Given the description of an element on the screen output the (x, y) to click on. 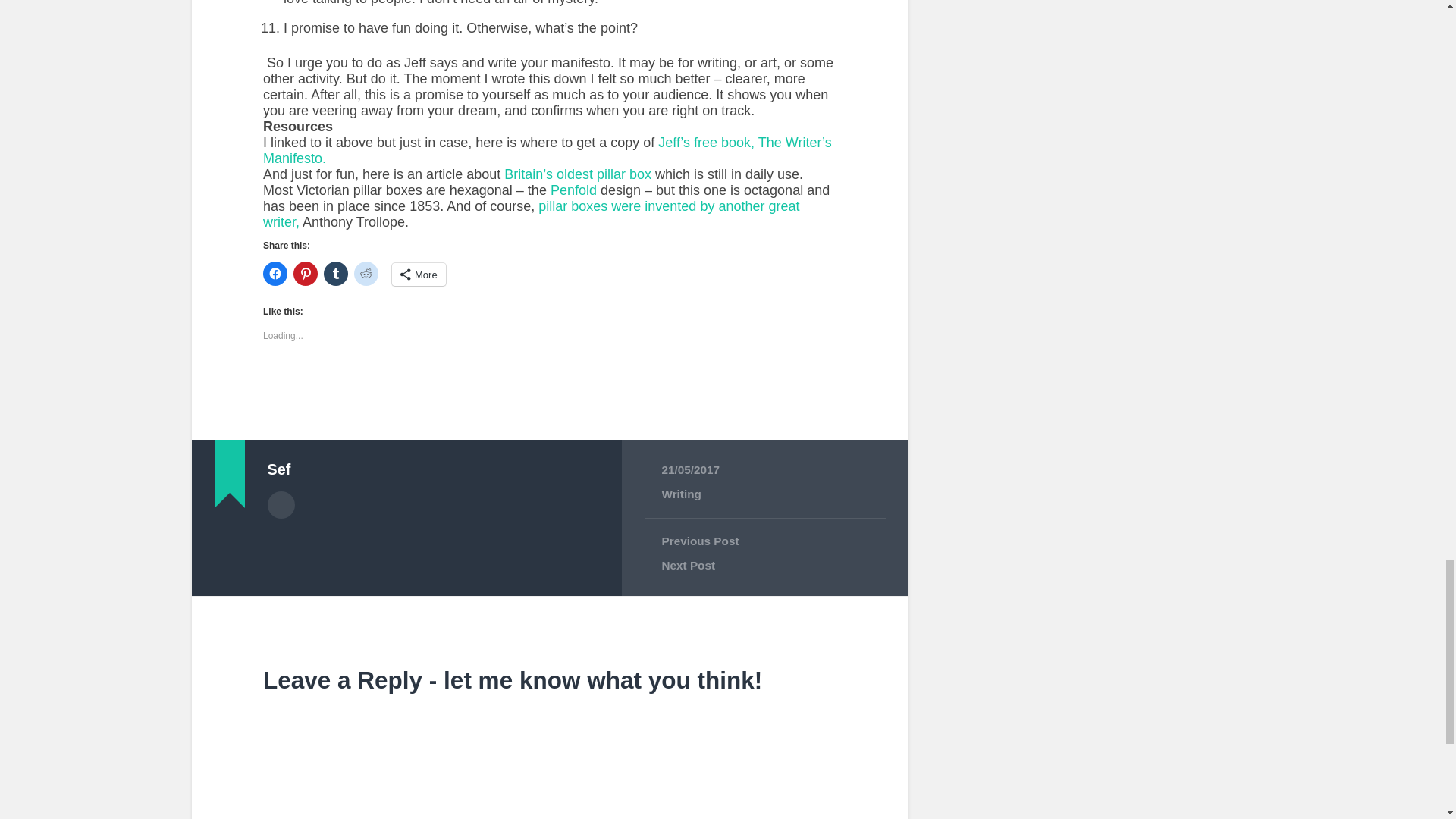
Click to share on Reddit (365, 273)
Comment Form (549, 759)
Writing (680, 493)
Next Post (765, 565)
Click to share on Facebook (274, 273)
pillar boxes were invented by another great writer, (531, 214)
Previous Post (765, 540)
Author archive (280, 504)
Click to share on Tumblr (335, 273)
More (418, 273)
Penfold (574, 190)
Click to share on Pinterest (305, 273)
